Given the description of an element on the screen output the (x, y) to click on. 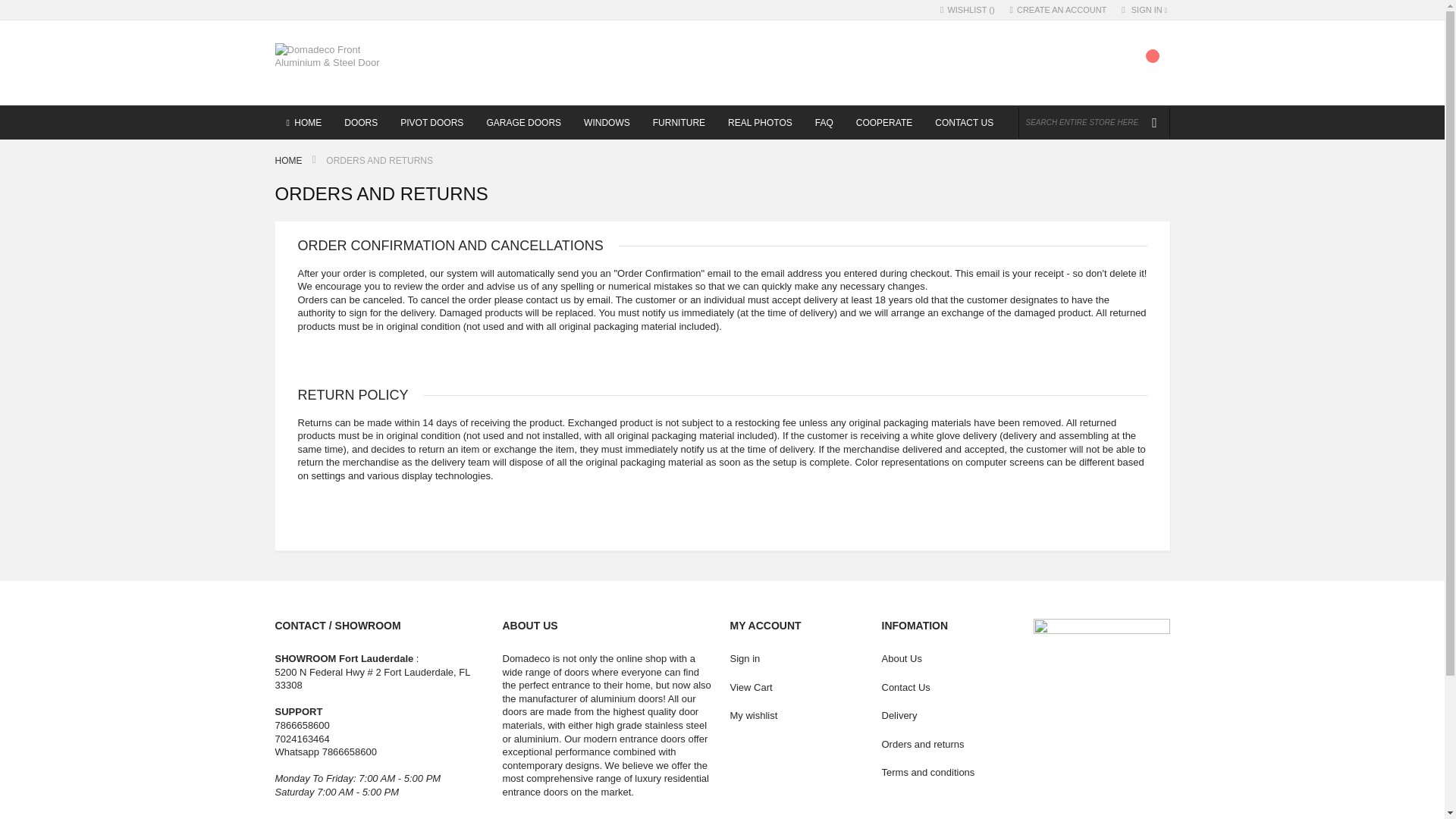
Search (1153, 122)
My Cart (1147, 66)
Go to Home Page (289, 160)
DOORS (360, 122)
CREATE AN ACCOUNT (1058, 9)
HOME (304, 122)
WISHLIST (967, 9)
